Given the description of an element on the screen output the (x, y) to click on. 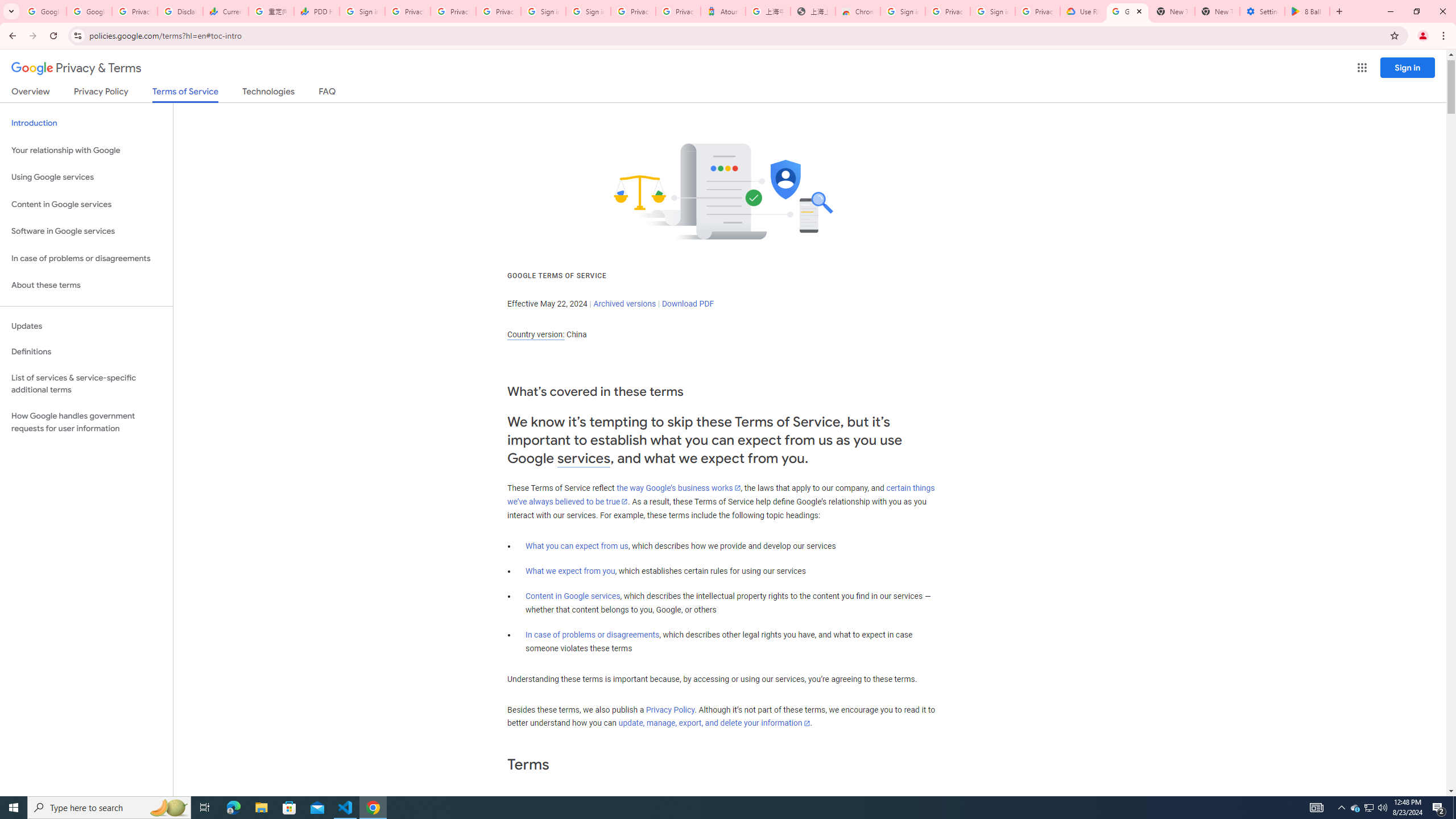
Sign in - Google Accounts (992, 11)
update, manage, export, and delete your information (714, 723)
Definitions (86, 352)
Using Google services (86, 176)
